Given the description of an element on the screen output the (x, y) to click on. 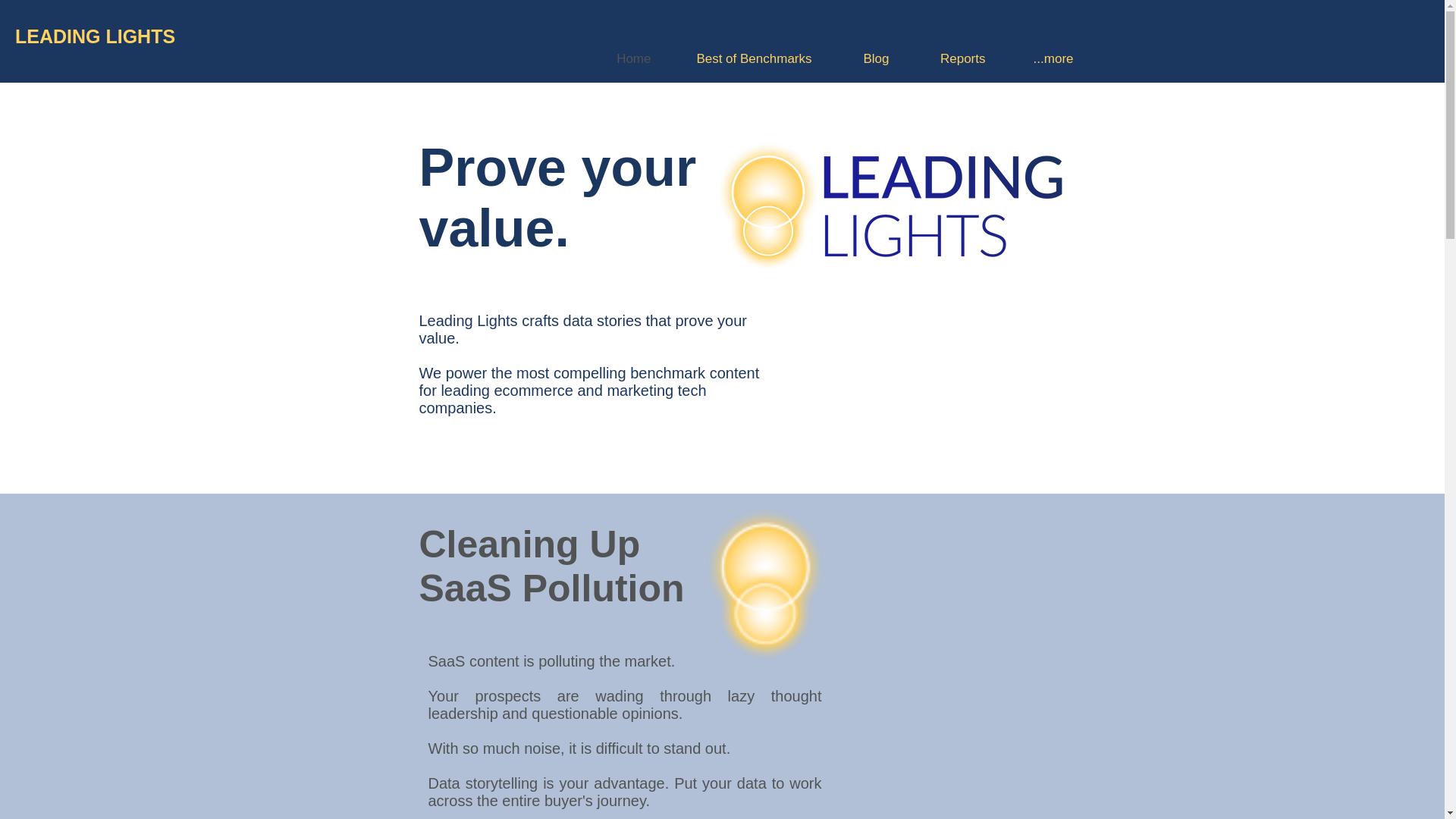
Reports (949, 58)
Home (619, 58)
LEADING LIGHTS (94, 36)
Blog (862, 58)
Best of Benchmarks (743, 58)
